Given the description of an element on the screen output the (x, y) to click on. 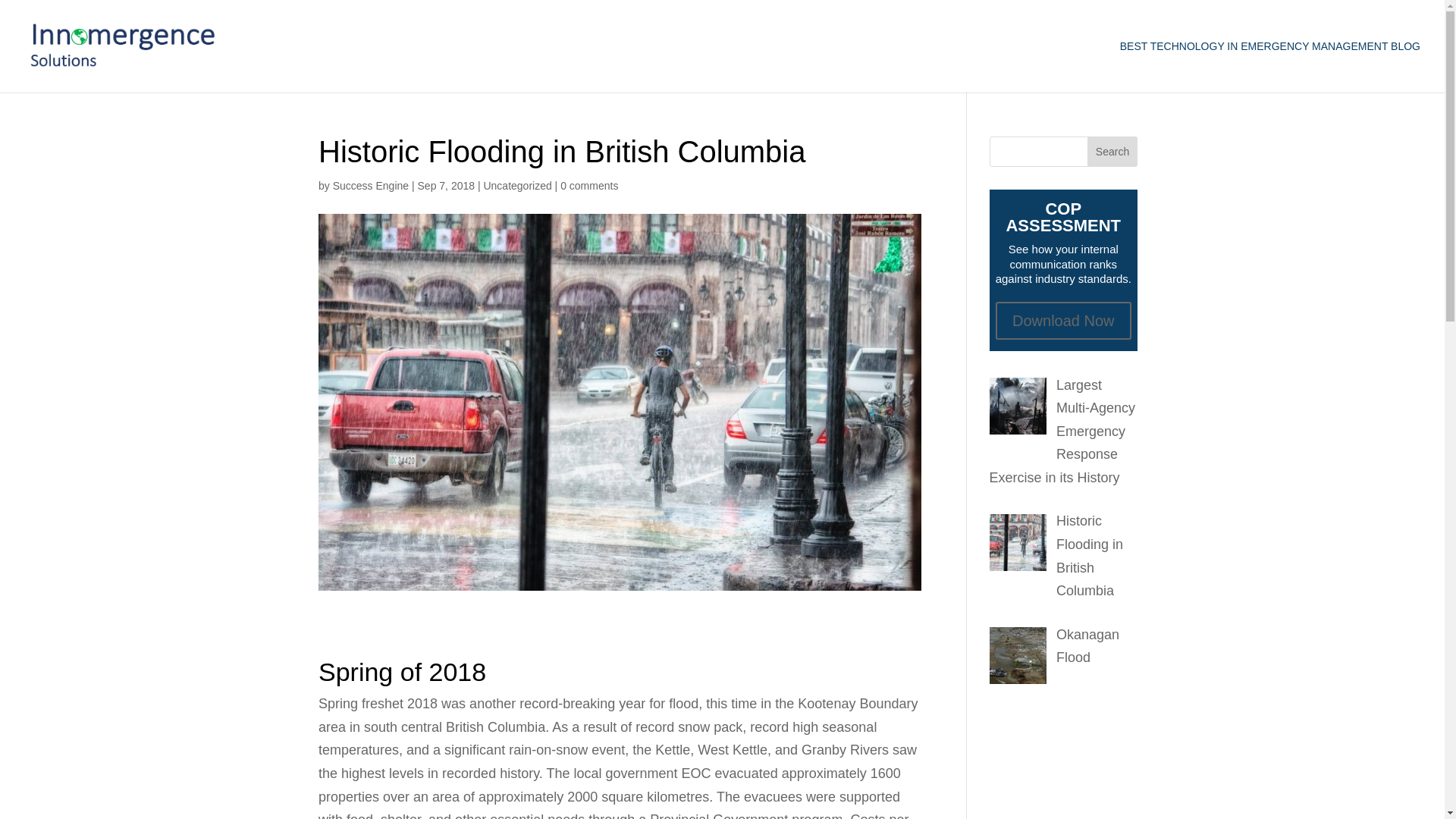
Download Now (1063, 320)
Search (1112, 151)
0 comments (588, 185)
Okanagan Flood (1088, 646)
Search (1112, 151)
Success Engine (371, 185)
BEST TECHNOLOGY IN EMERGENCY MANAGEMENT BLOG (1270, 66)
Posts by Success Engine (371, 185)
Uncategorized (517, 185)
